Given the description of an element on the screen output the (x, y) to click on. 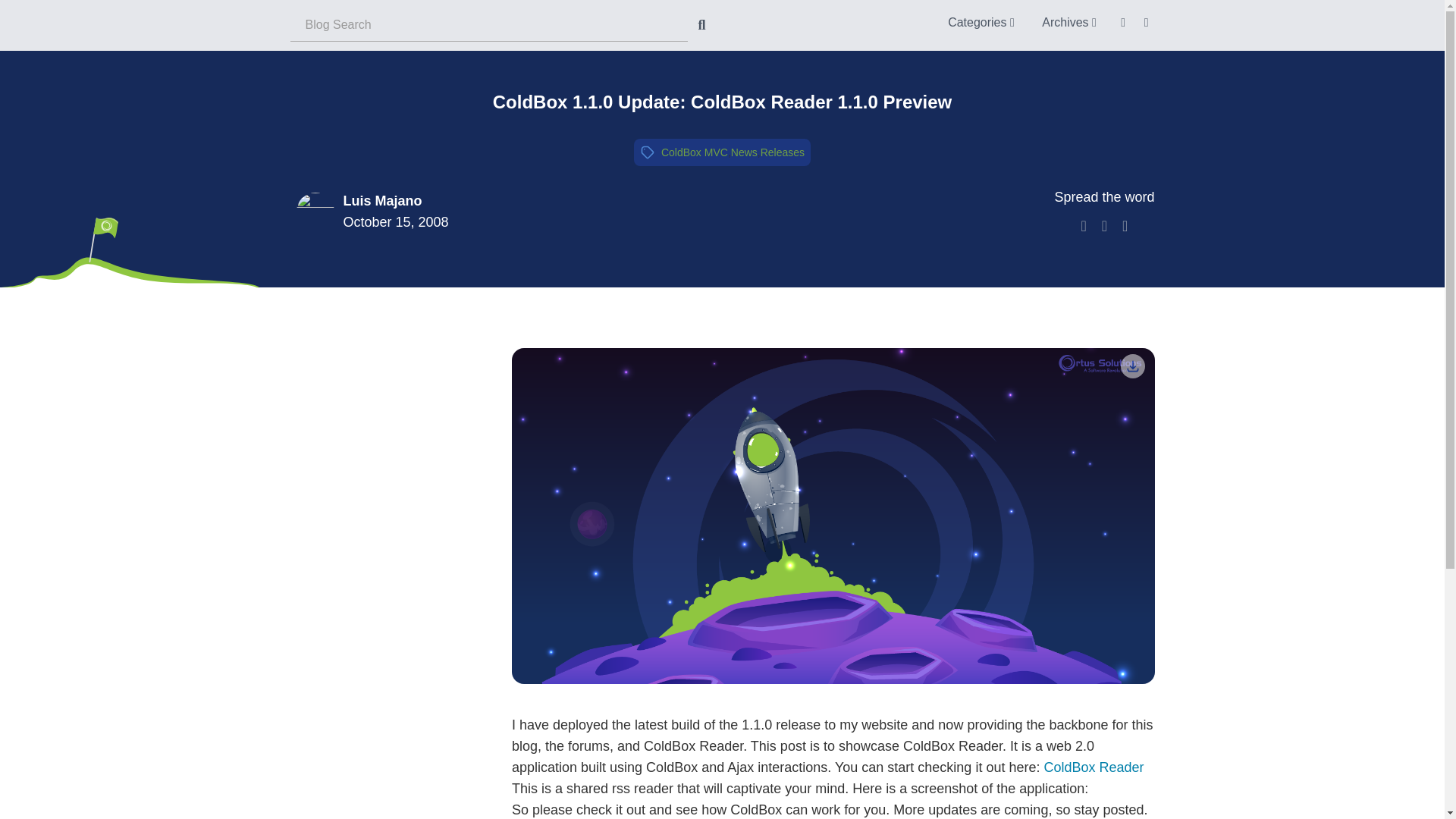
Filter entries by 'ColdBox MVC' (694, 151)
ColdBox 1.1.0 Update: ColdBox Reader 1.1.0 Preview (722, 101)
News (743, 151)
Categories (981, 21)
Filter entries by 'Releases' (782, 151)
Releases (782, 151)
Archives (1068, 21)
Download (1132, 365)
Filter entries by 'News' (743, 151)
ColdBox Reader (1092, 767)
